Given the description of an element on the screen output the (x, y) to click on. 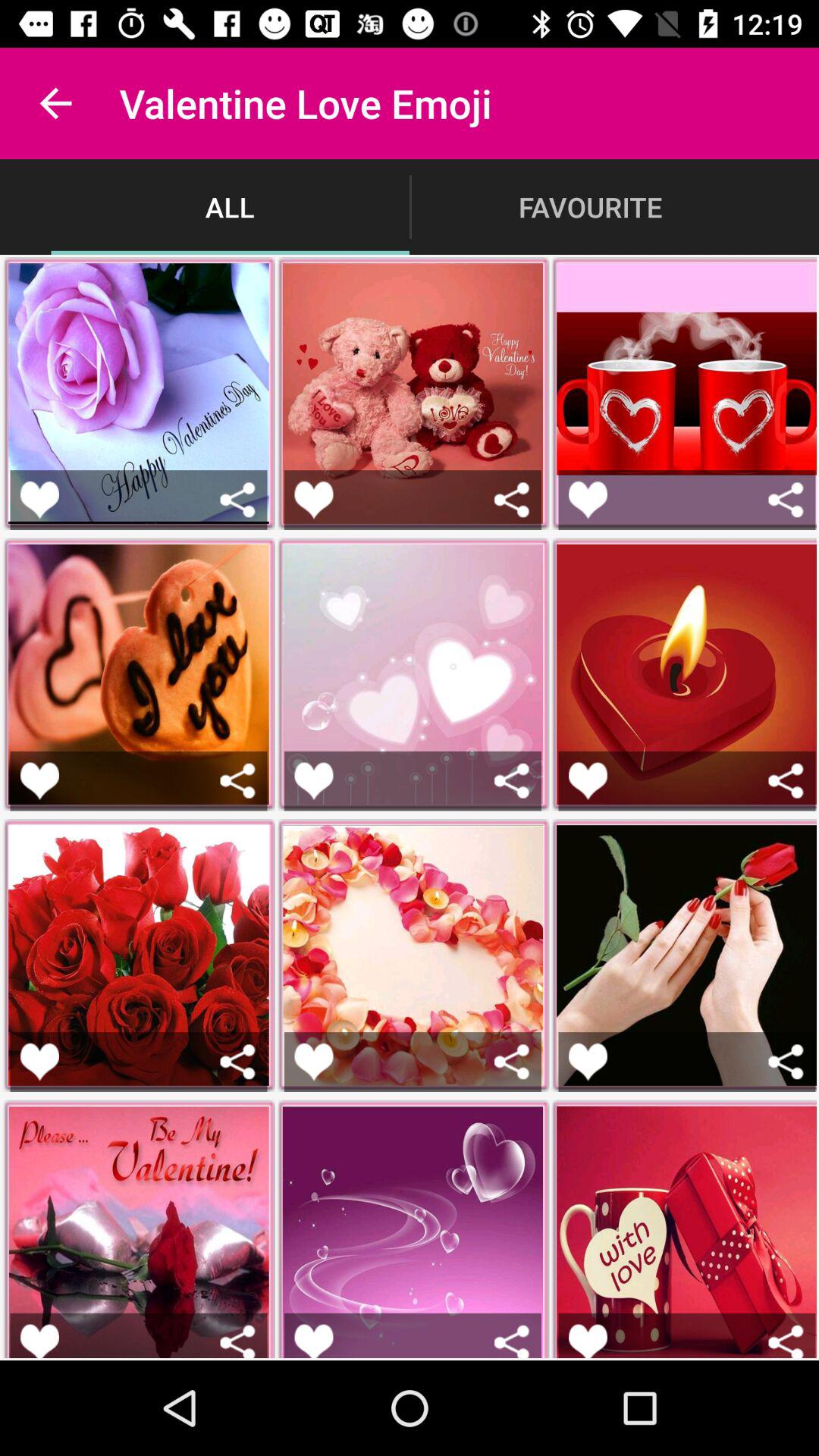
share (237, 499)
